Given the description of an element on the screen output the (x, y) to click on. 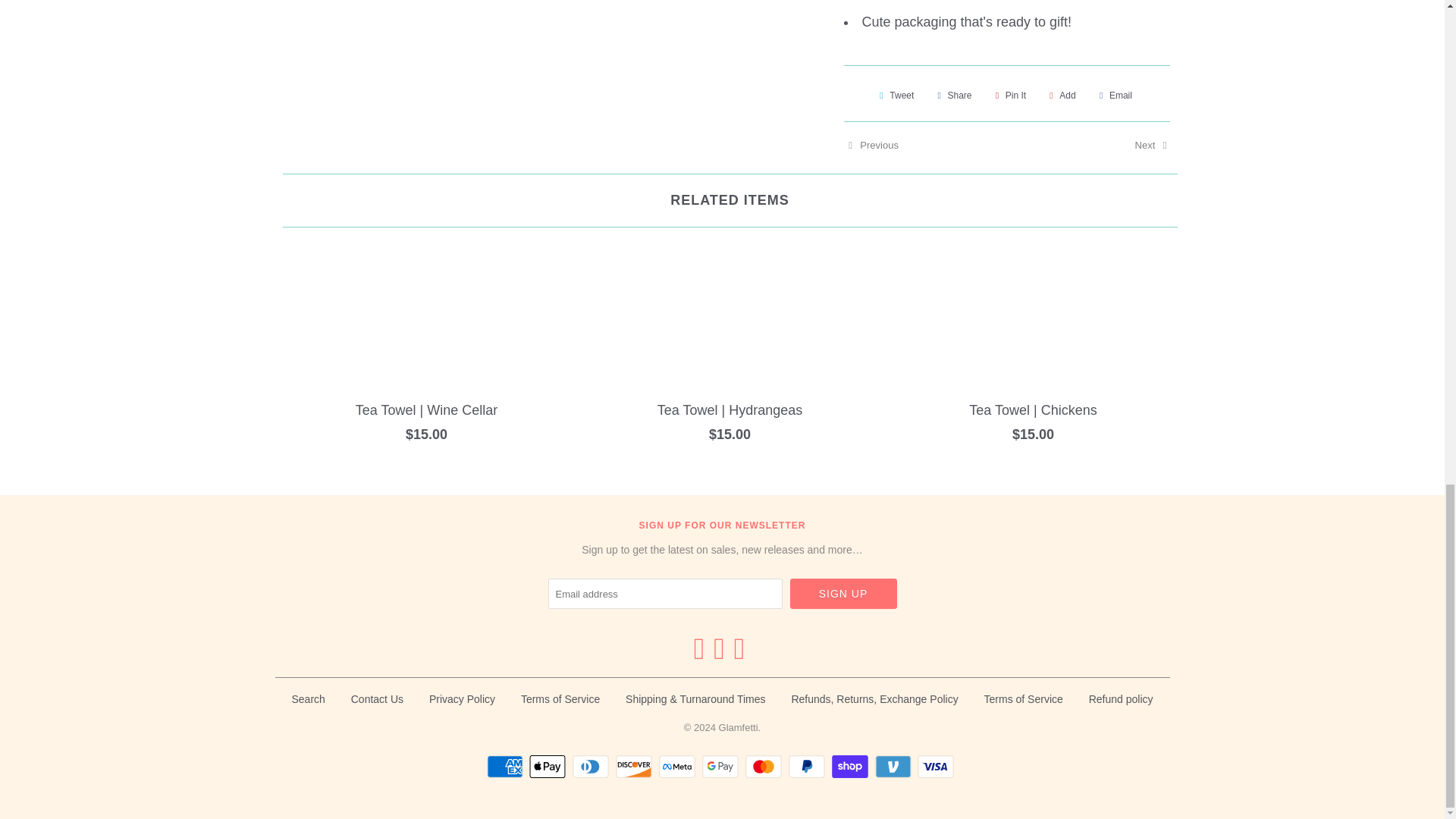
American Express (506, 766)
Share this on Facebook (951, 95)
Visa (937, 766)
Share this on Twitter (894, 95)
Meta Pay (678, 766)
Email this to a friend (1113, 95)
Discover (635, 766)
Apple Pay (549, 766)
Share this on Pinterest (1008, 95)
Venmo (895, 766)
Mastercard (765, 766)
Shop Pay (851, 766)
Diners Club (592, 766)
Google Pay (721, 766)
PayPal (808, 766)
